Given the description of an element on the screen output the (x, y) to click on. 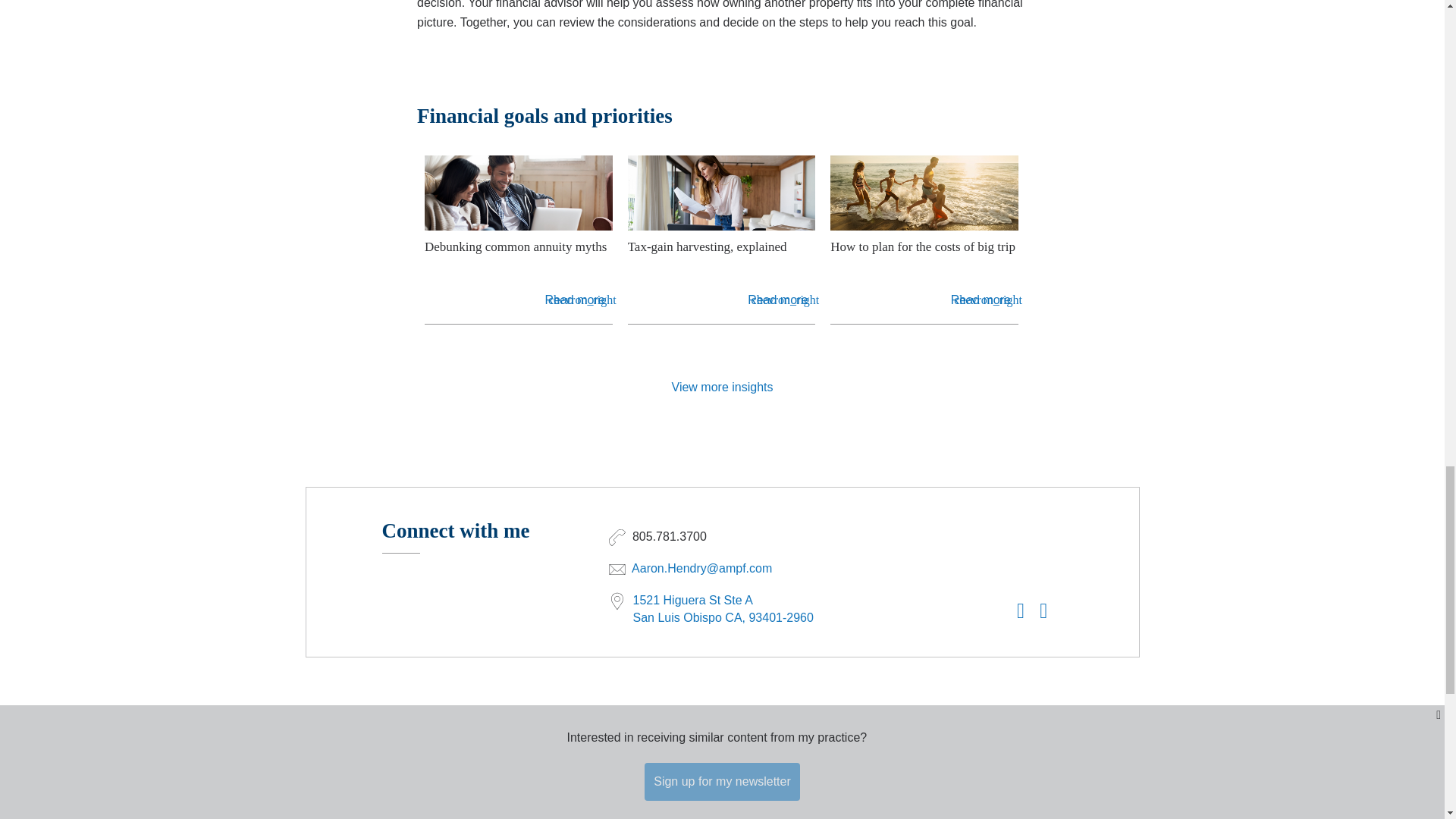
View more insights (721, 386)
Debunking common annuity myths (518, 257)
Read more (574, 299)
Tax-gain harvesting, explained (721, 257)
Read more (980, 299)
How to plan for the costs of big trip (923, 257)
Read more (778, 299)
